Given the description of an element on the screen output the (x, y) to click on. 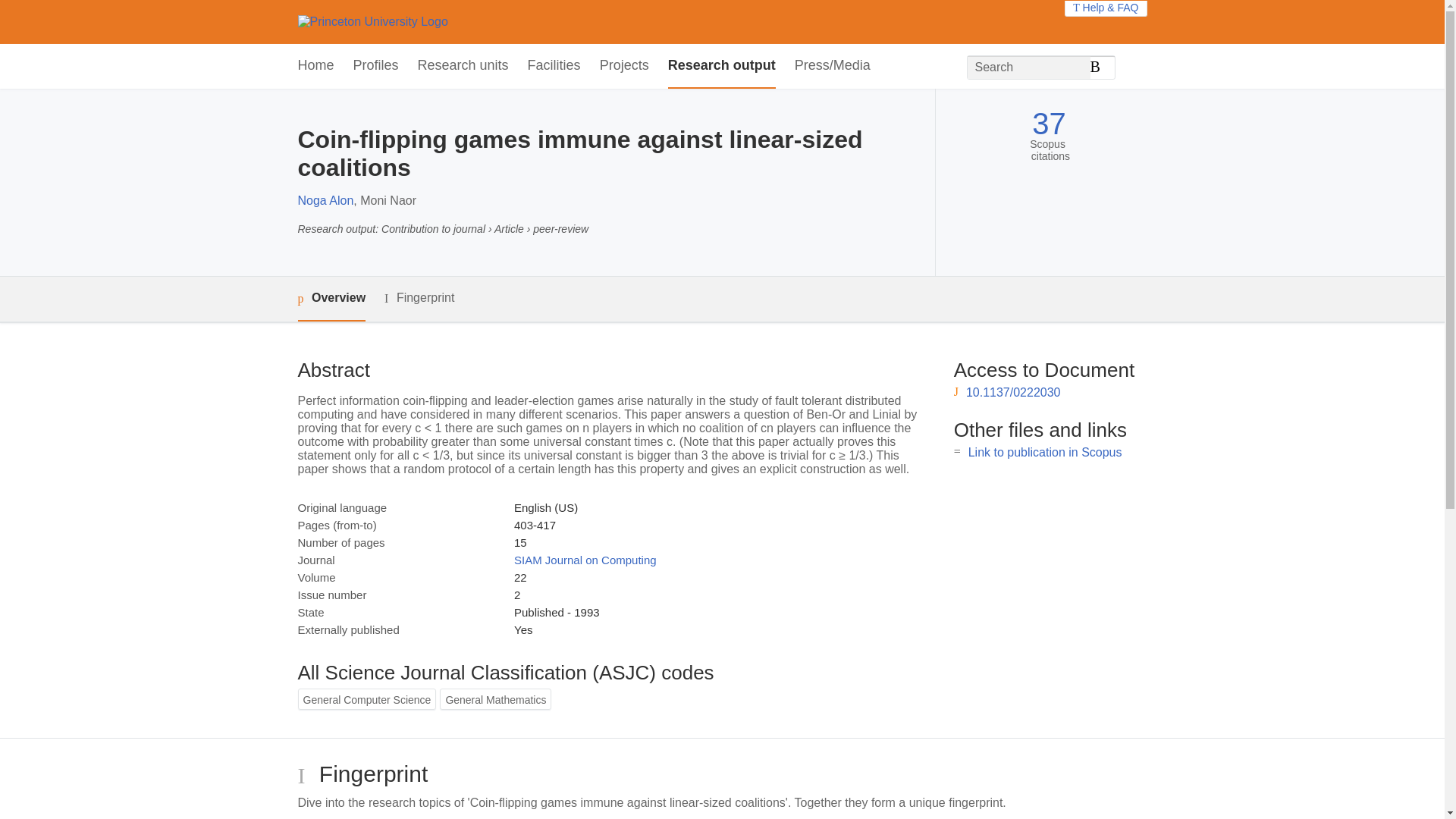
SIAM Journal on Computing (584, 559)
Overview (331, 298)
Facilities (553, 66)
37 (1048, 123)
Research output (722, 66)
Profiles (375, 66)
Princeton University Home (371, 21)
Research units (462, 66)
Projects (624, 66)
Link to publication in Scopus (1045, 451)
Noga Alon (325, 200)
Fingerprint (419, 298)
